Given the description of an element on the screen output the (x, y) to click on. 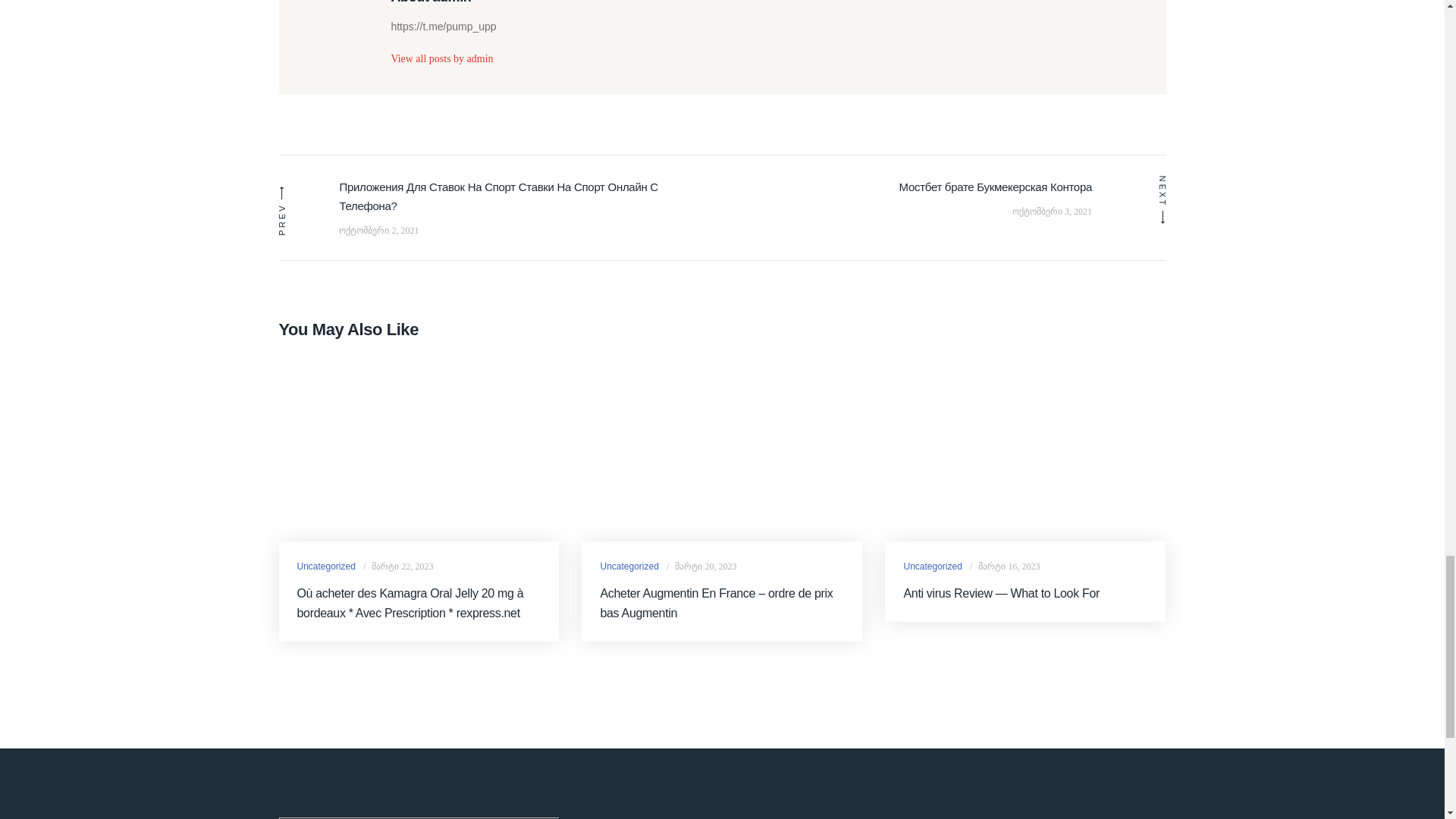
View all posts in Uncategorized (931, 566)
View all posts in Uncategorized (326, 566)
View all posts in Uncategorized (628, 566)
